Given the description of an element on the screen output the (x, y) to click on. 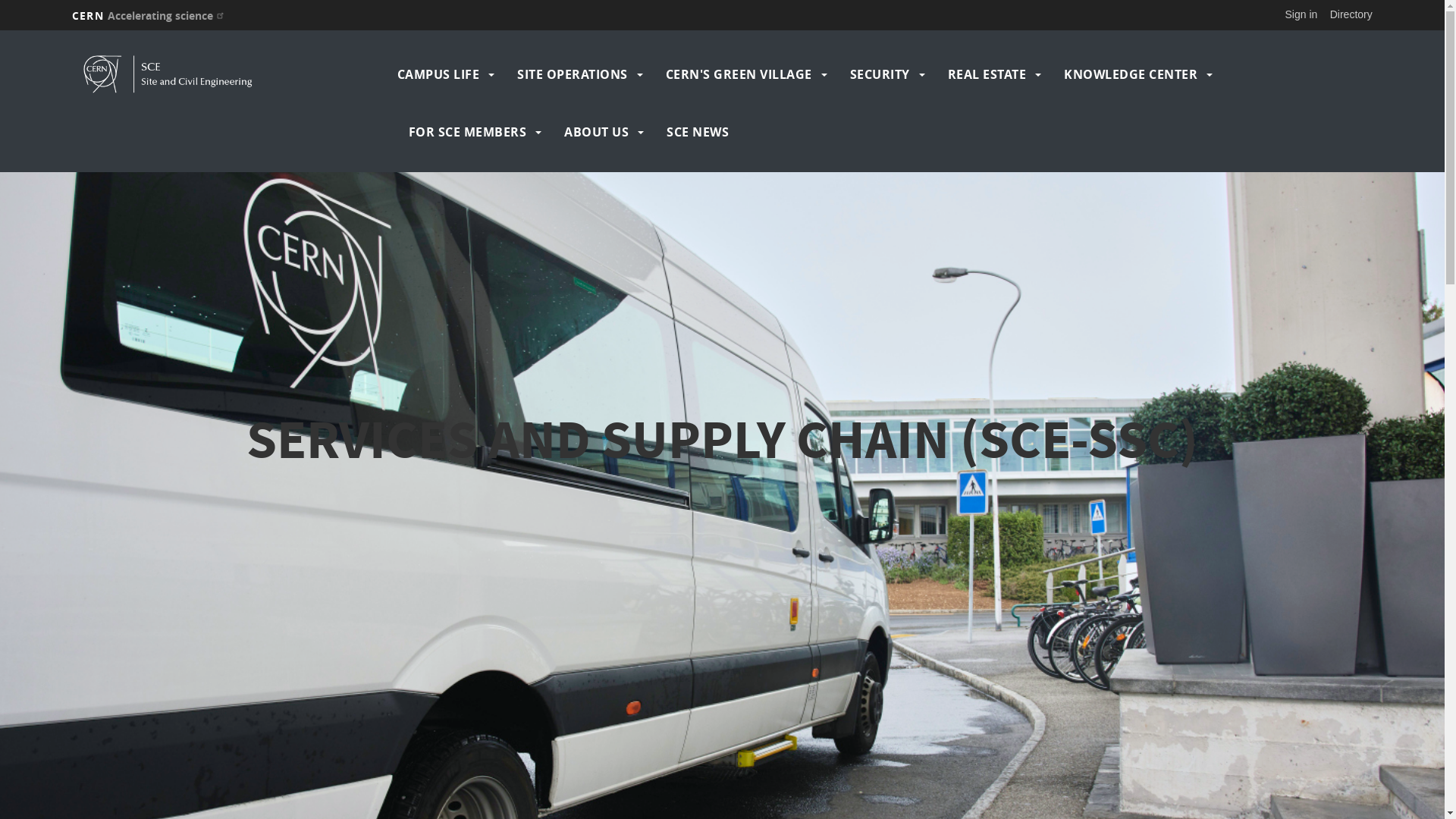
Directory Element type: text (1351, 14)
Sign in Element type: text (1301, 14)
SECURITY Element type: text (880, 74)
SITE OPERATIONS Element type: text (572, 74)
REAL ESTATE Element type: text (986, 74)
Skip to main content Element type: text (0, 30)
Home Element type: hover (230, 74)
CERN Accelerating science (link is external) Element type: text (149, 14)
KNOWLEDGE CENTER Element type: text (1130, 74)
ABOUT US Element type: text (596, 131)
CAMPUS LIFE Element type: text (438, 74)
FOR SCE MEMBERS Element type: text (467, 131)
SCE NEWS Element type: text (697, 131)
CERN'S GREEN VILLAGE Element type: text (738, 74)
